Given the description of an element on the screen output the (x, y) to click on. 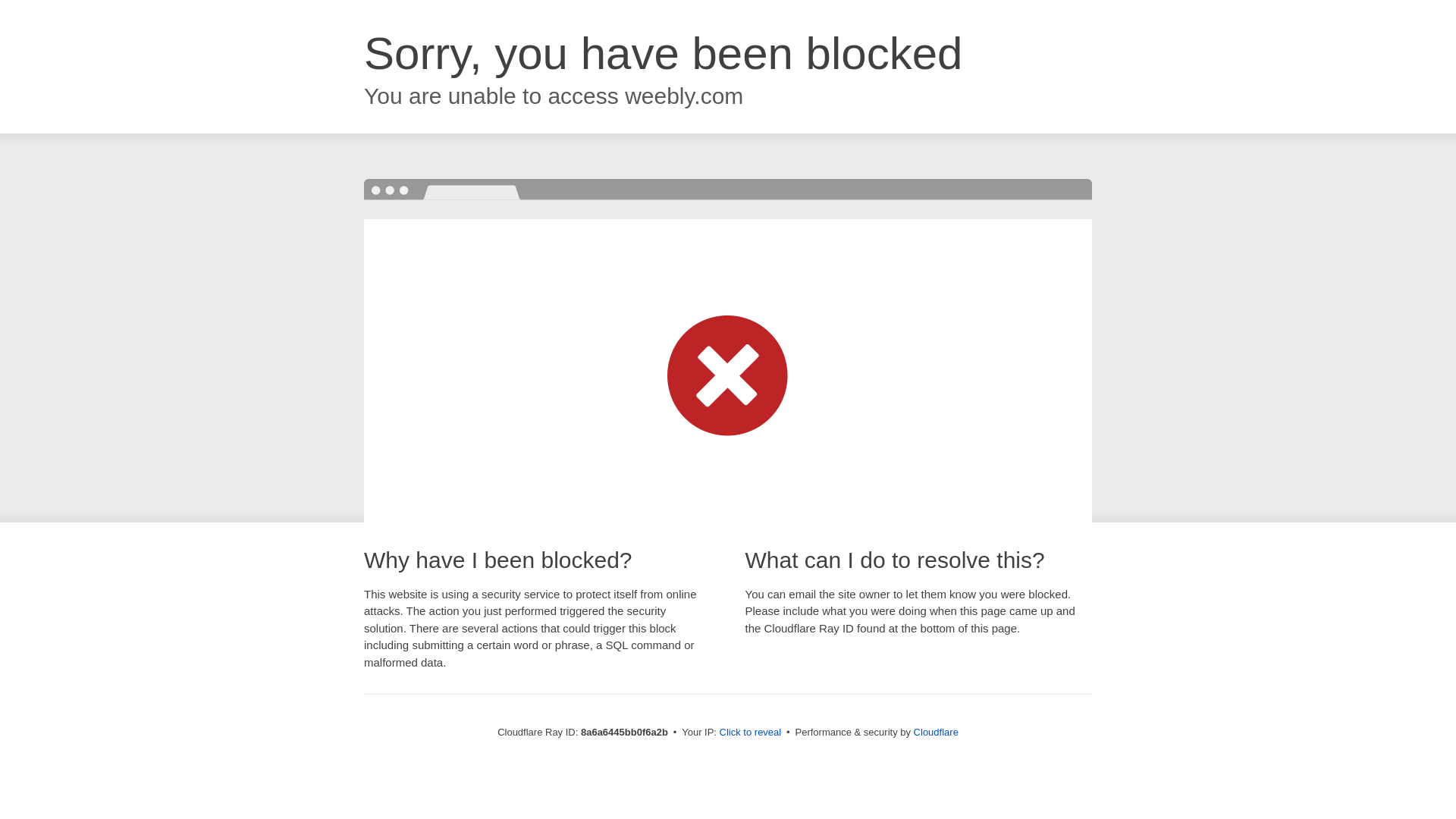
Cloudflare (936, 731)
Click to reveal (750, 732)
